Given the description of an element on the screen output the (x, y) to click on. 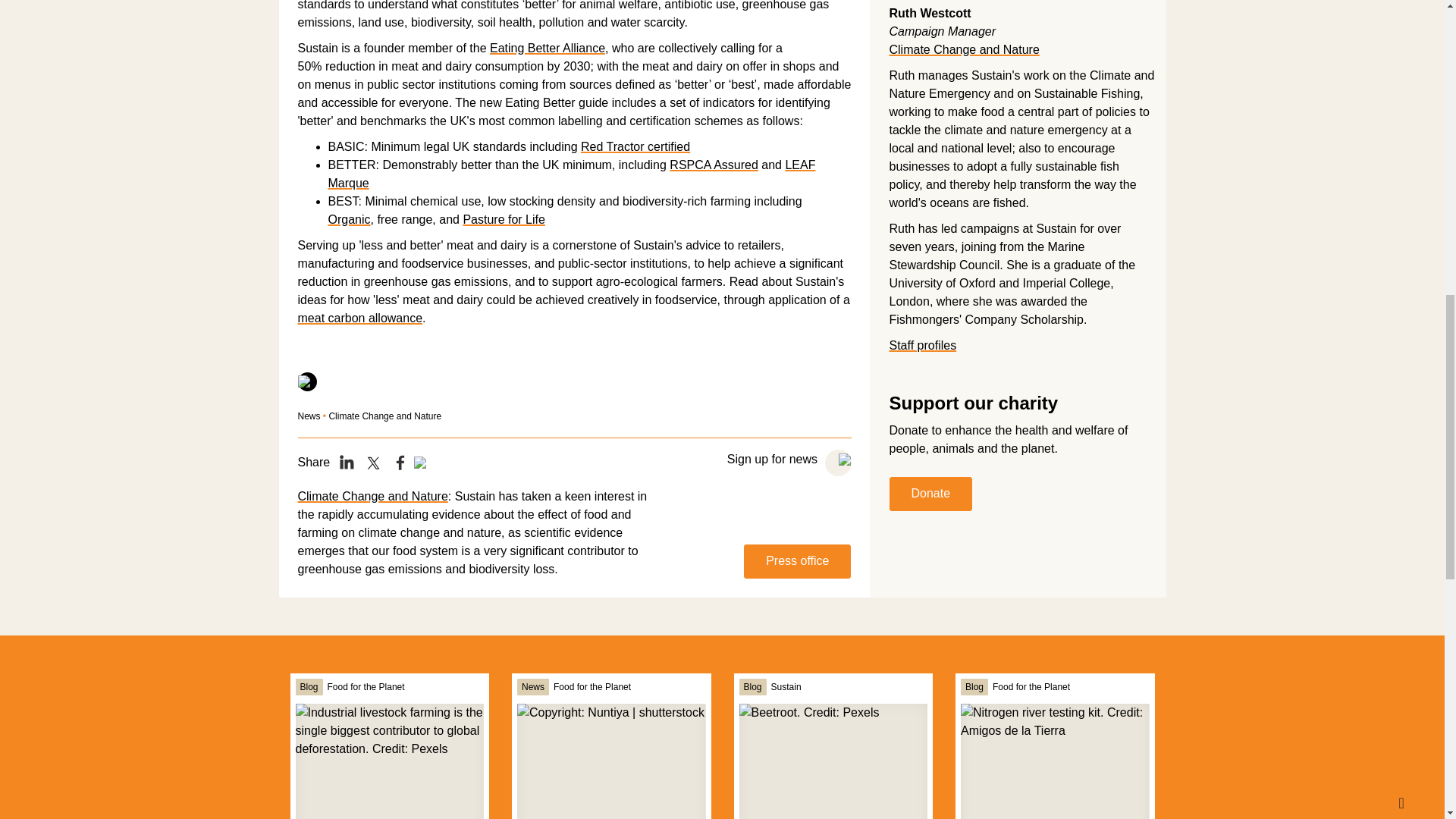
Red Tractor certified (635, 146)
Get updates (838, 462)
News (308, 416)
Nitrogen river testing kit. Credit: Amigos de la Tierra (1054, 761)
Climate Change and Nature (385, 416)
Beetroot. Credit: Pexels (832, 761)
Pasture for Life (503, 219)
meat carbon allowance (359, 318)
RSPCA Assured (713, 164)
